Given the description of an element on the screen output the (x, y) to click on. 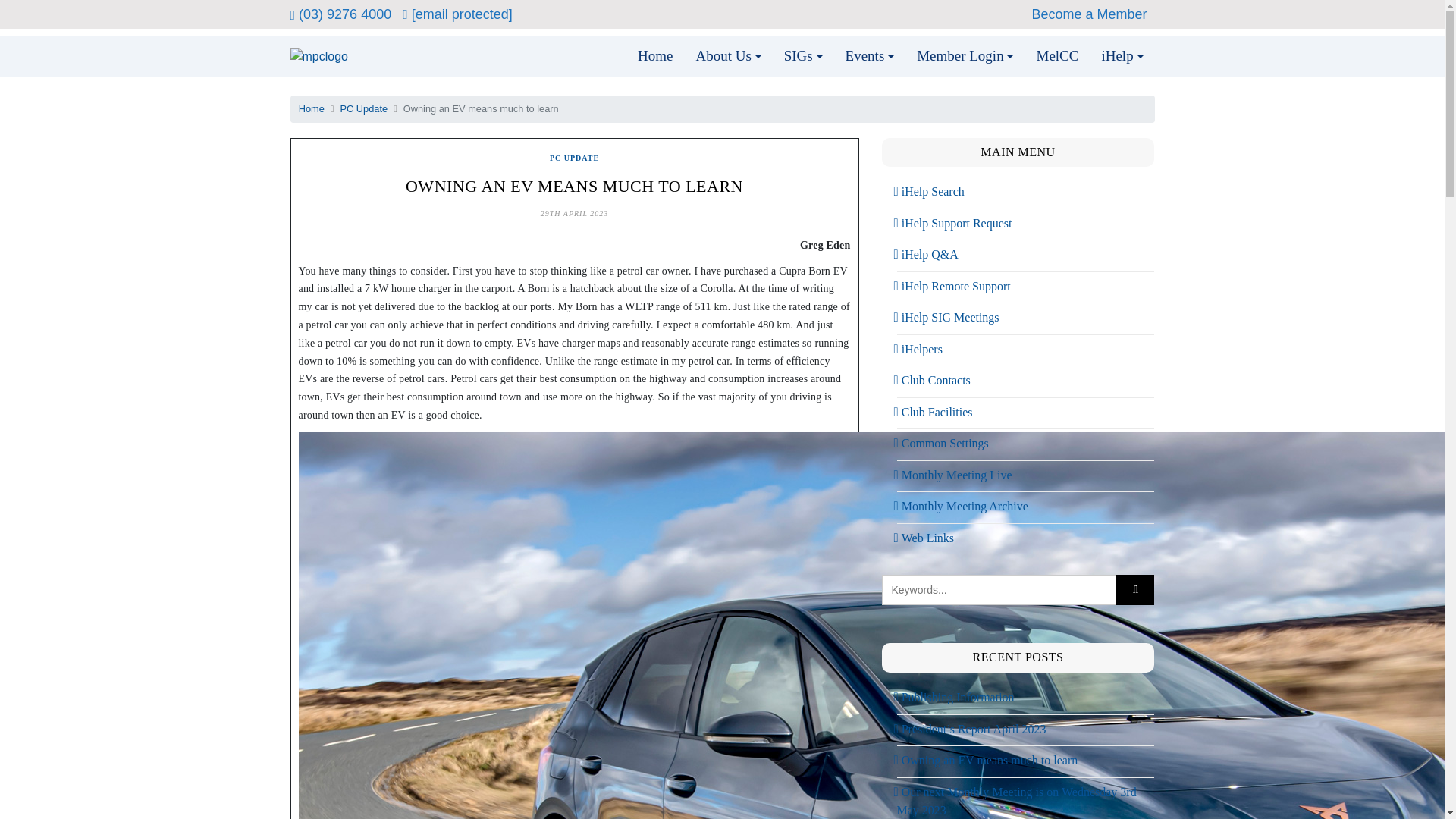
Home (311, 108)
About Us (727, 56)
MelCC (1057, 56)
Home (655, 56)
Events (869, 56)
SIGs (803, 56)
PC Update (364, 108)
Member Login (965, 56)
iHelp (1121, 56)
Home Page for the Melbourne Creators Collective (1057, 56)
